Given the description of an element on the screen output the (x, y) to click on. 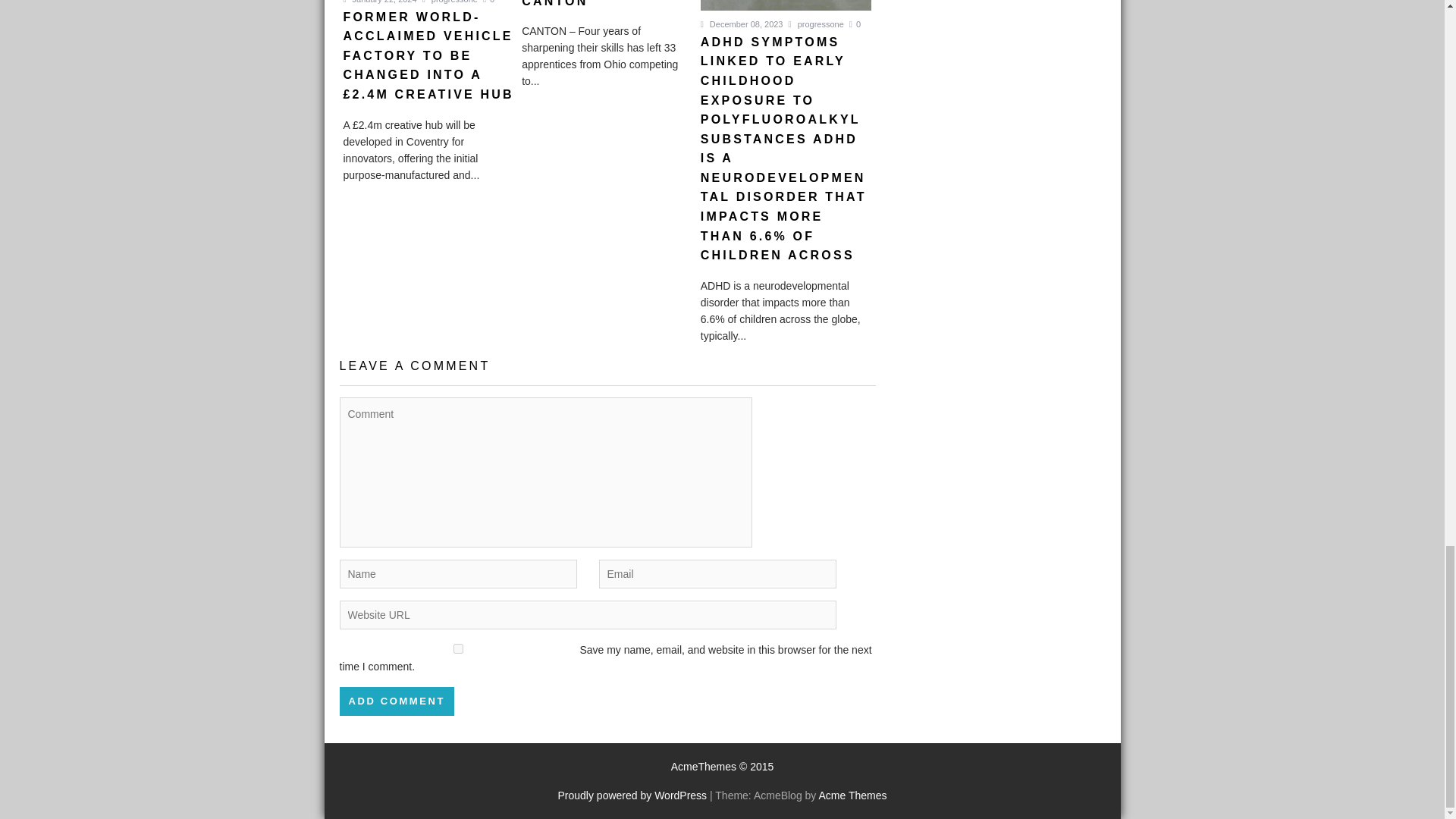
progressone (449, 2)
January 22, 2024 (379, 2)
Add Comment (396, 701)
progressone (449, 2)
0 (489, 2)
progressone (816, 23)
yes (457, 648)
